Given the description of an element on the screen output the (x, y) to click on. 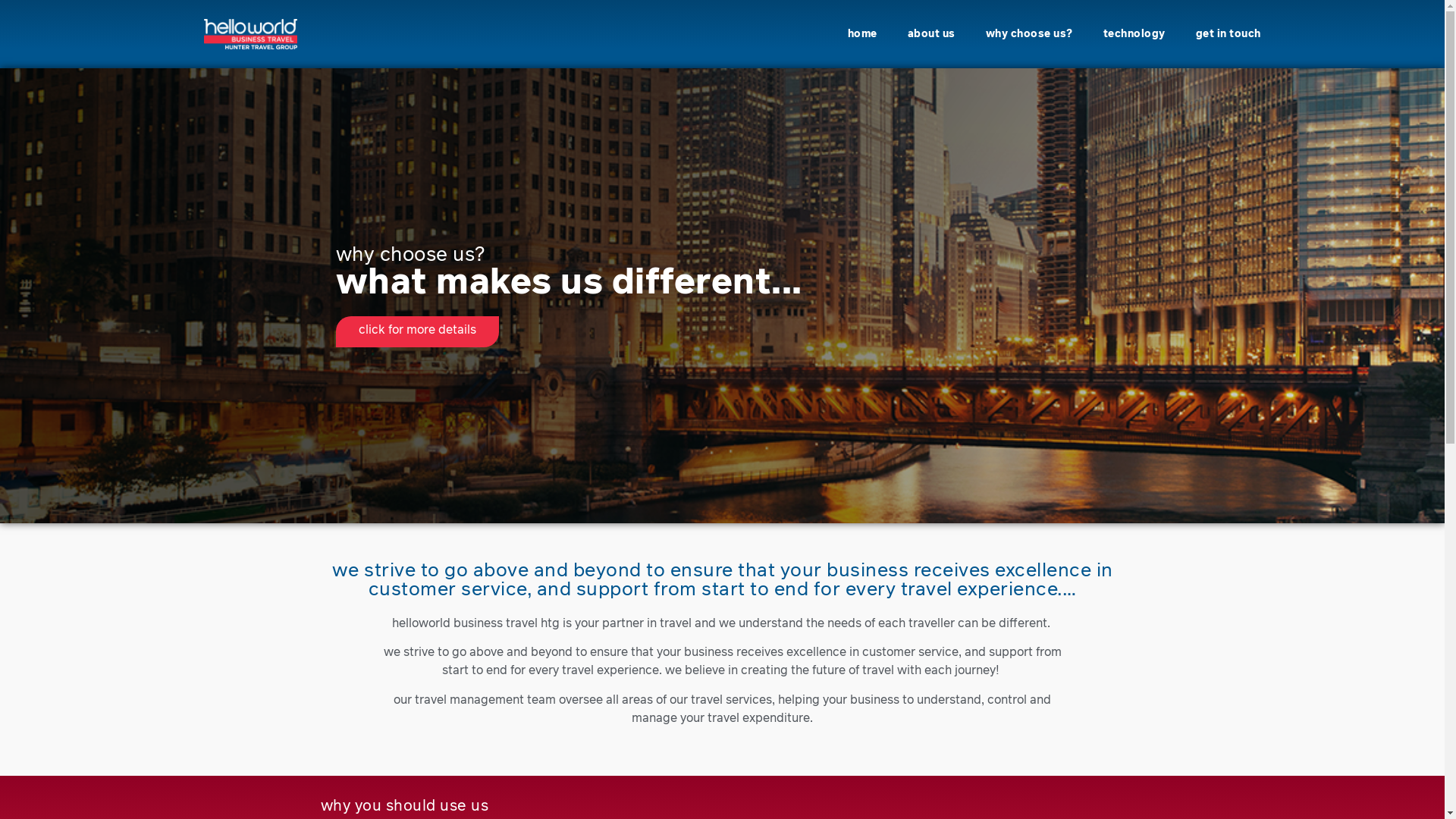
why choose us? Element type: text (1029, 33)
home Element type: text (862, 33)
click for more details Element type: text (416, 330)
about us Element type: text (930, 33)
get in touch Element type: text (1227, 33)
technology Element type: text (1133, 33)
